Given the description of an element on the screen output the (x, y) to click on. 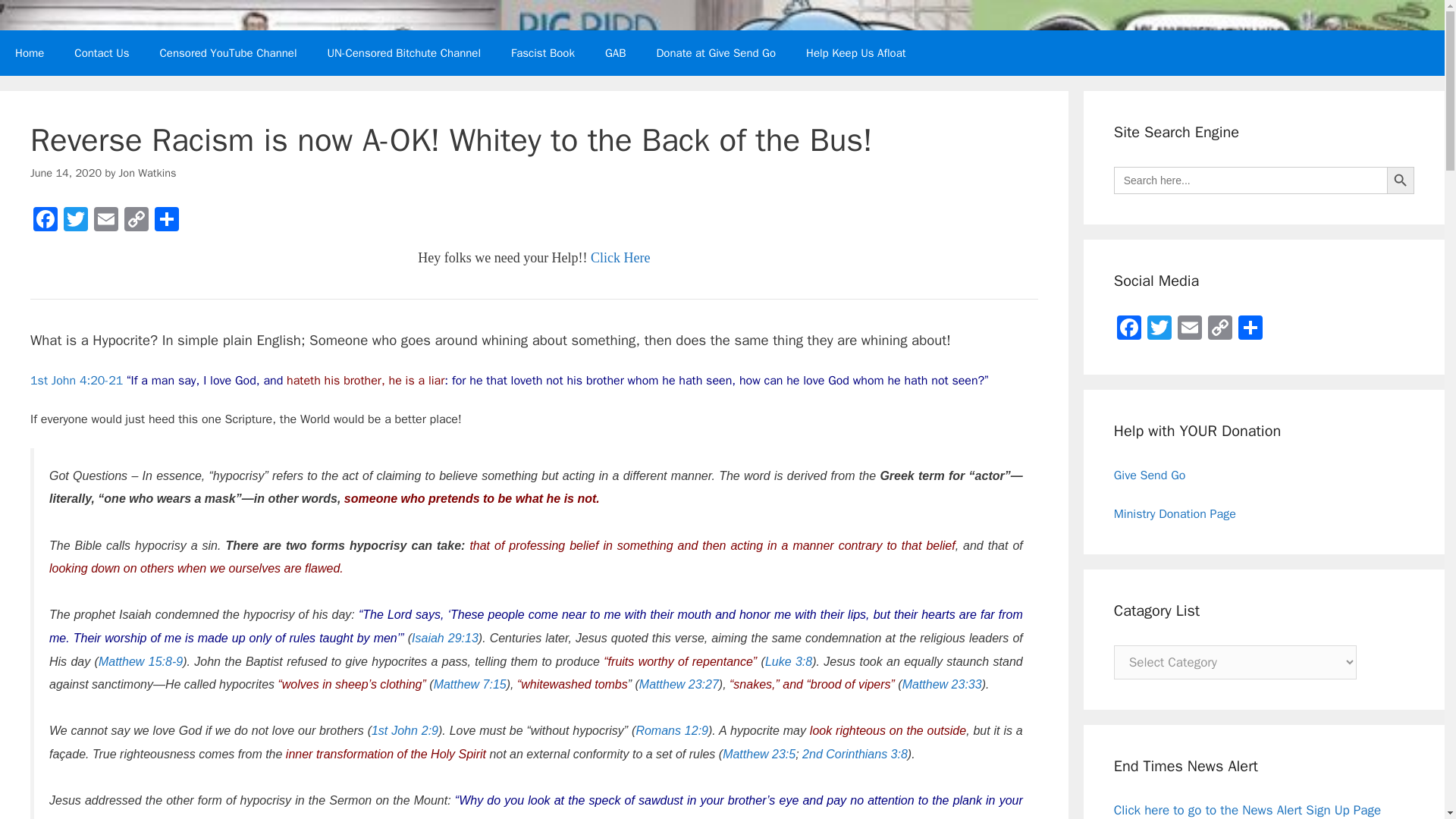
Matthew 23:5 (758, 753)
Romans 12:9 (670, 730)
Matthew 15:8-9 (141, 661)
A great alternitive to Twitter (615, 53)
Contact Us (101, 53)
UN-Censored Bitchute Channel (404, 53)
Luke 3:8 (788, 661)
2nd Corinthians 3:8 (854, 753)
Facebook (45, 221)
1st John 4:20-21 (76, 380)
Home (29, 53)
Matthew 7:15 (469, 684)
Jon Watkins (147, 172)
Copy Link (135, 221)
